Given the description of an element on the screen output the (x, y) to click on. 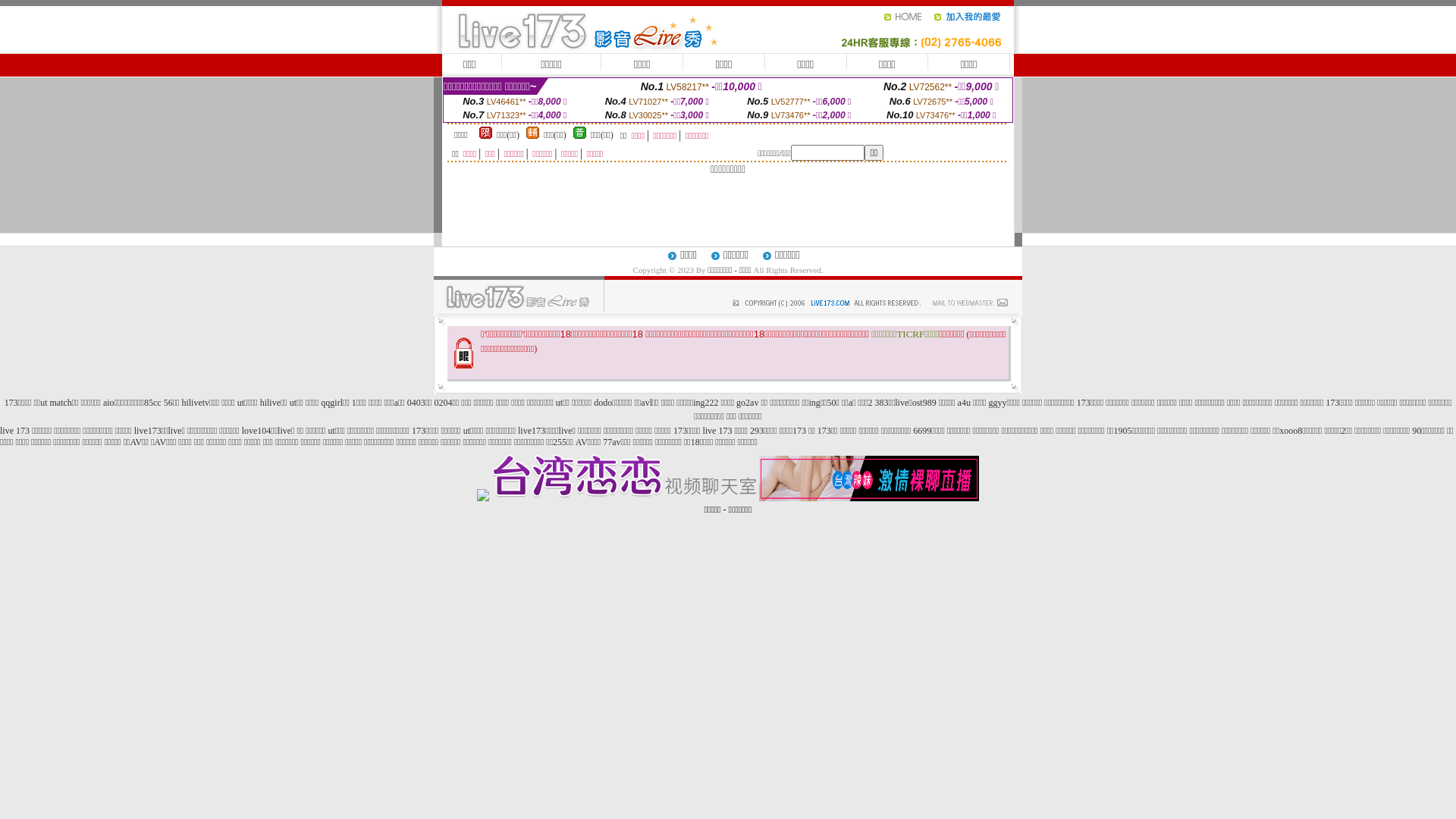
live 173 Element type: text (14, 430)
go2av Element type: text (747, 402)
